Given the description of an element on the screen output the (x, y) to click on. 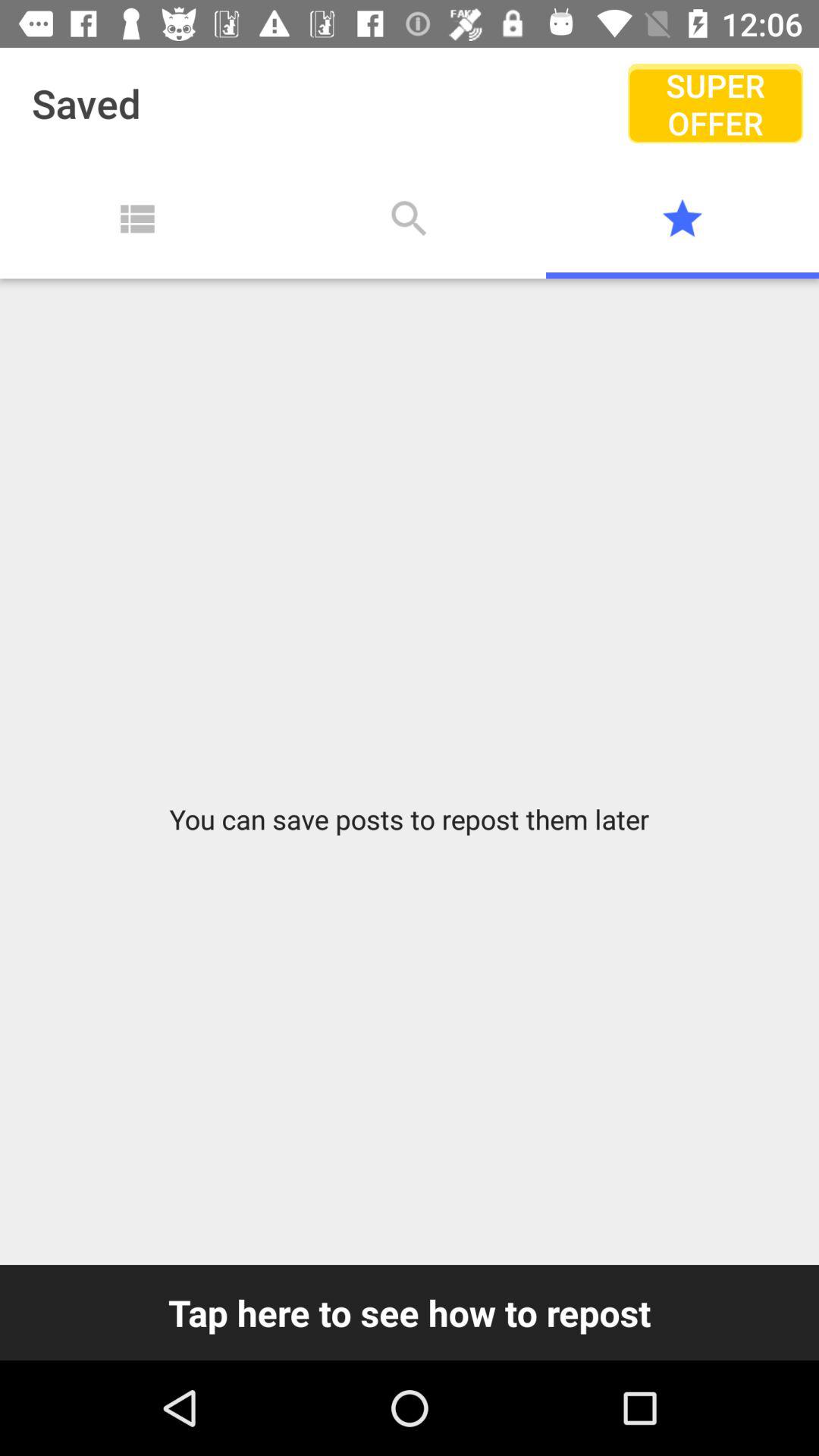
press the tap here to item (409, 1312)
